Given the description of an element on the screen output the (x, y) to click on. 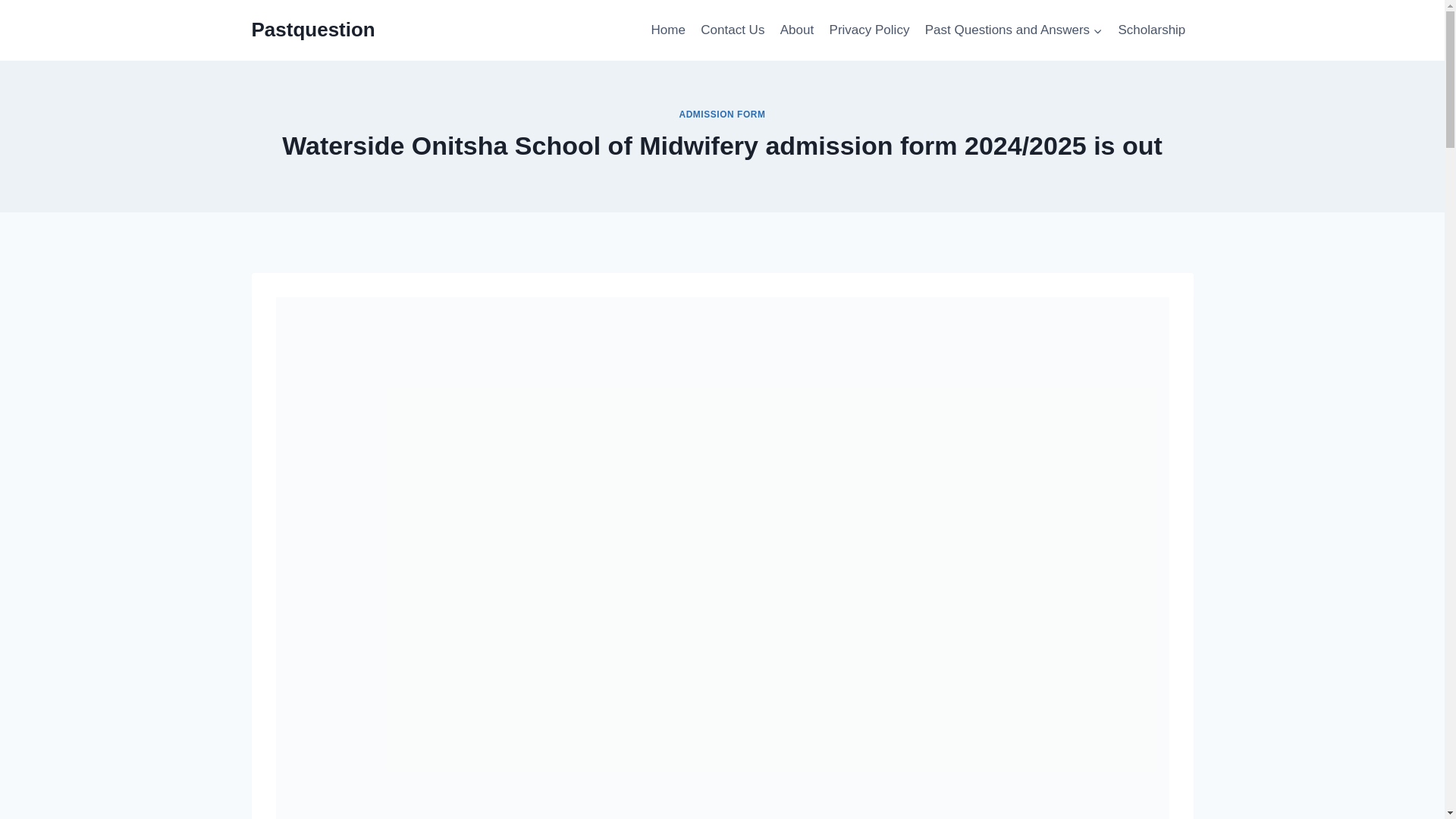
Scholarship (1150, 30)
Home (668, 30)
ADMISSION FORM (721, 113)
Past Questions and Answers (1013, 30)
Contact Us (732, 30)
Pastquestion (313, 29)
Privacy Policy (869, 30)
About (797, 30)
